Given the description of an element on the screen output the (x, y) to click on. 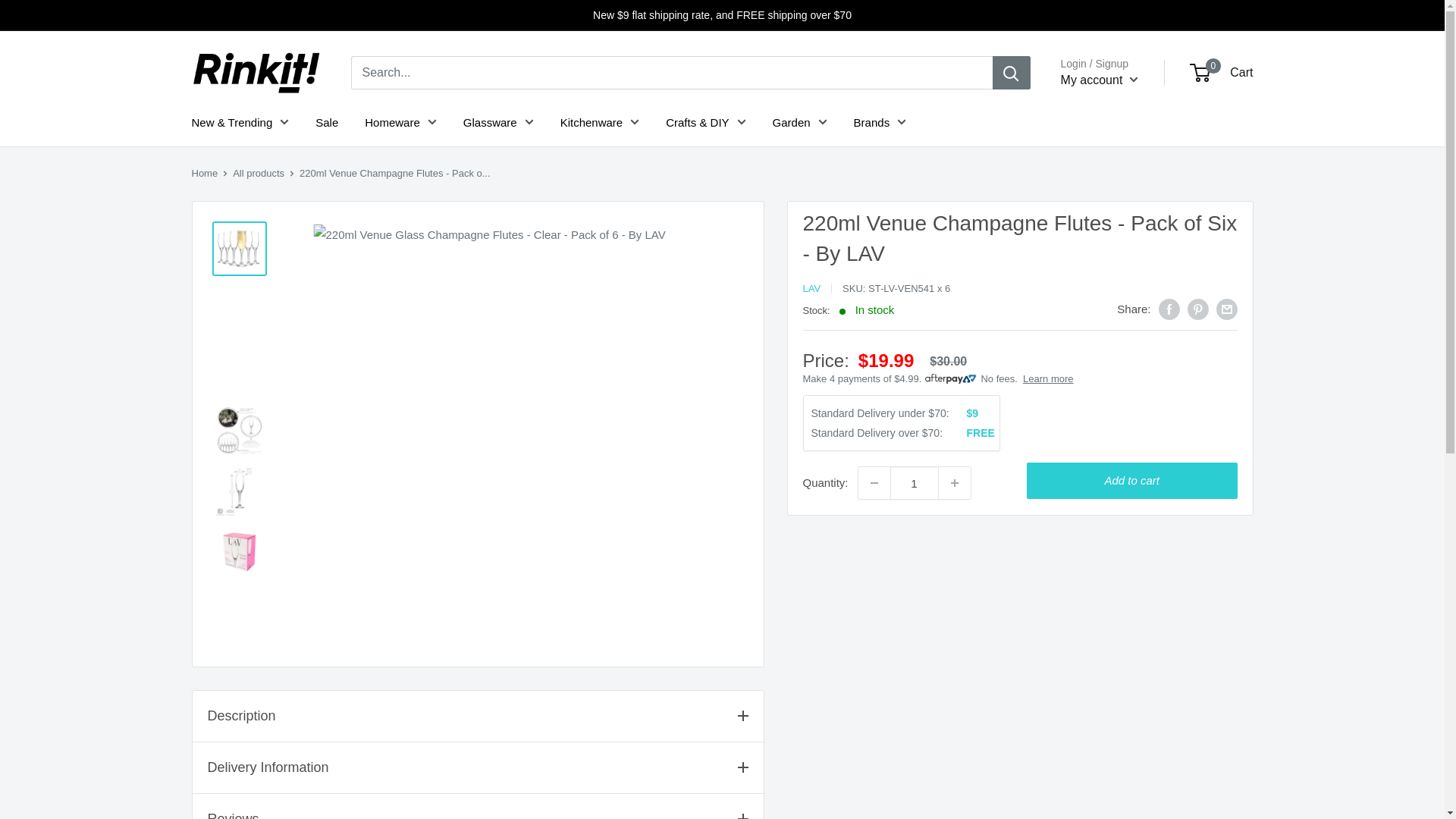
Increase quantity by 1 (955, 482)
1 (914, 482)
Decrease quantity by 1 (874, 482)
